Given the description of an element on the screen output the (x, y) to click on. 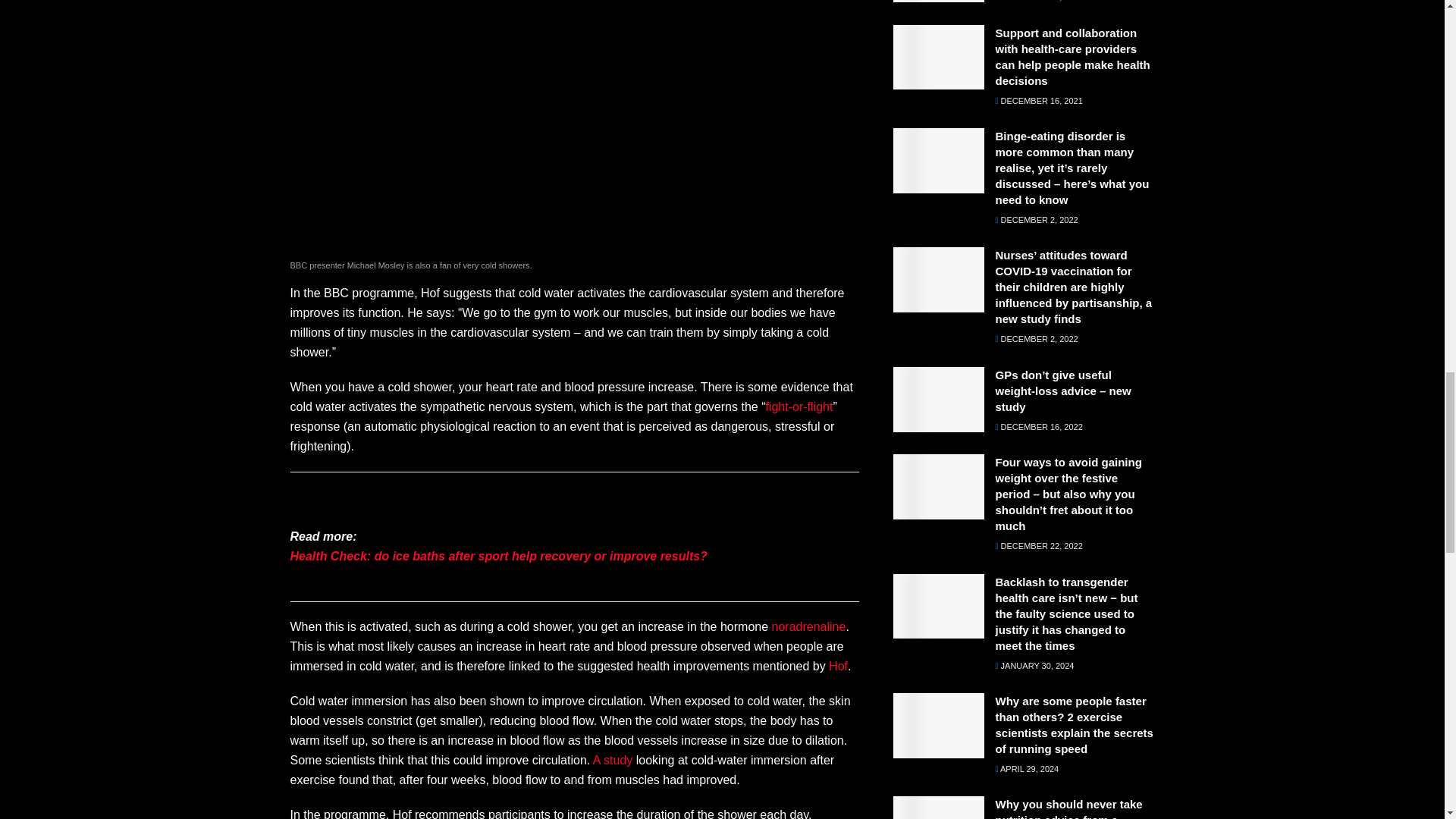
fight-or-flight (798, 406)
